Given the description of an element on the screen output the (x, y) to click on. 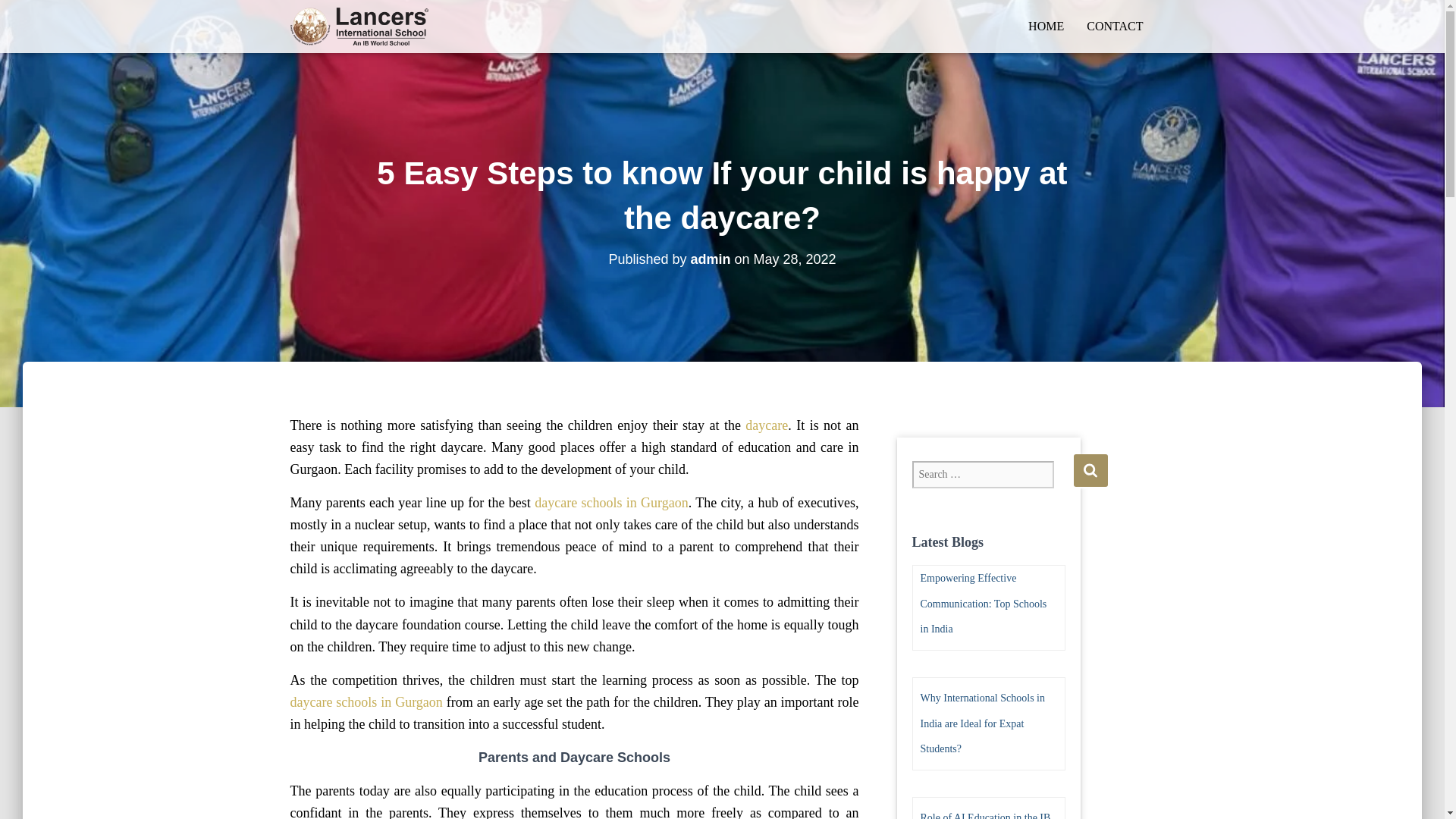
HOME (1045, 26)
admin (710, 258)
Blogs (360, 26)
Empowering Effective Communication: Top Schools in India (983, 603)
Search (1091, 470)
Search (1091, 470)
Search (1091, 470)
CONTACT (1114, 26)
daycare schools in Gurgaon (365, 702)
